Given the description of an element on the screen output the (x, y) to click on. 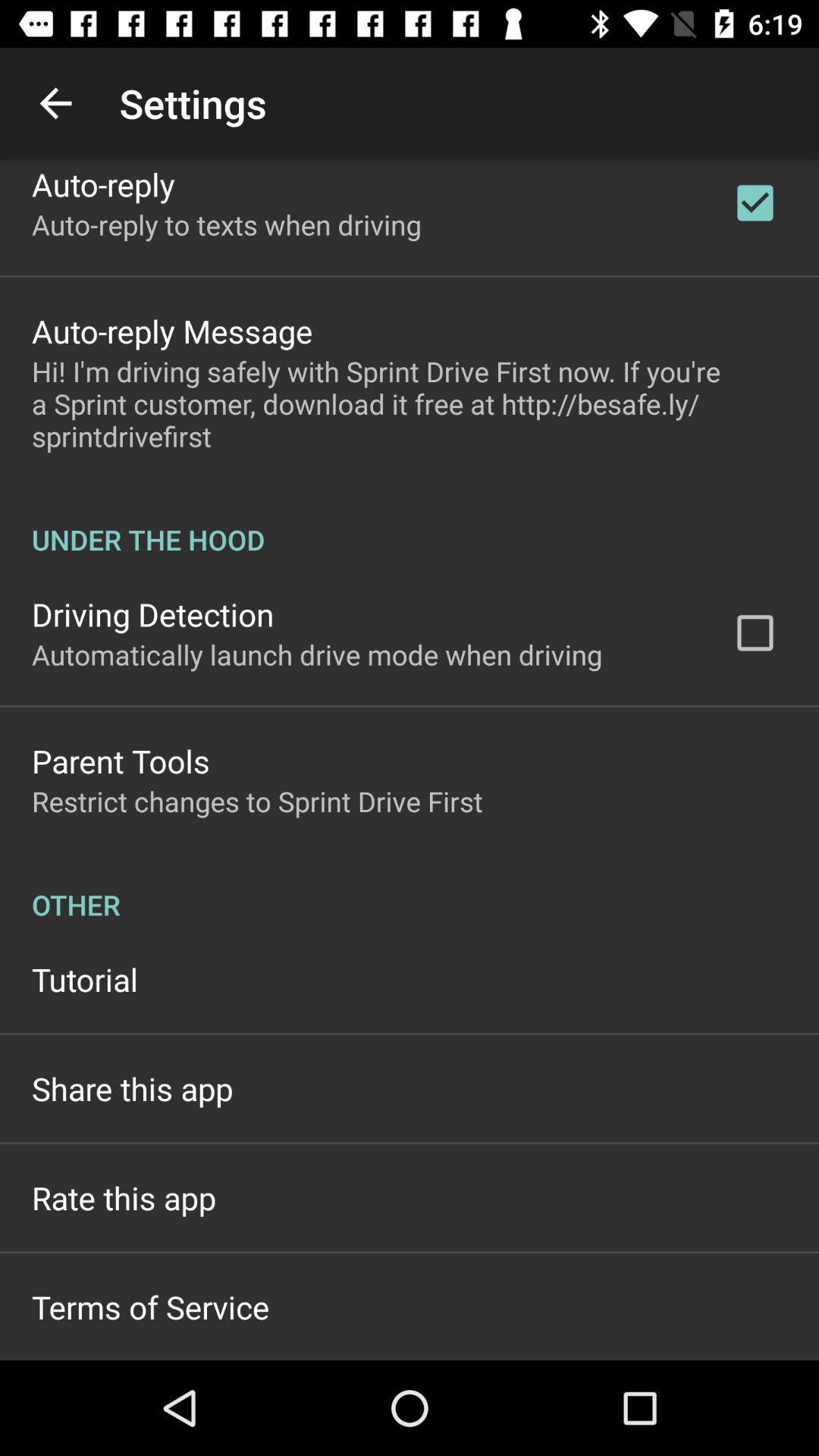
swipe until driving detection (152, 613)
